Given the description of an element on the screen output the (x, y) to click on. 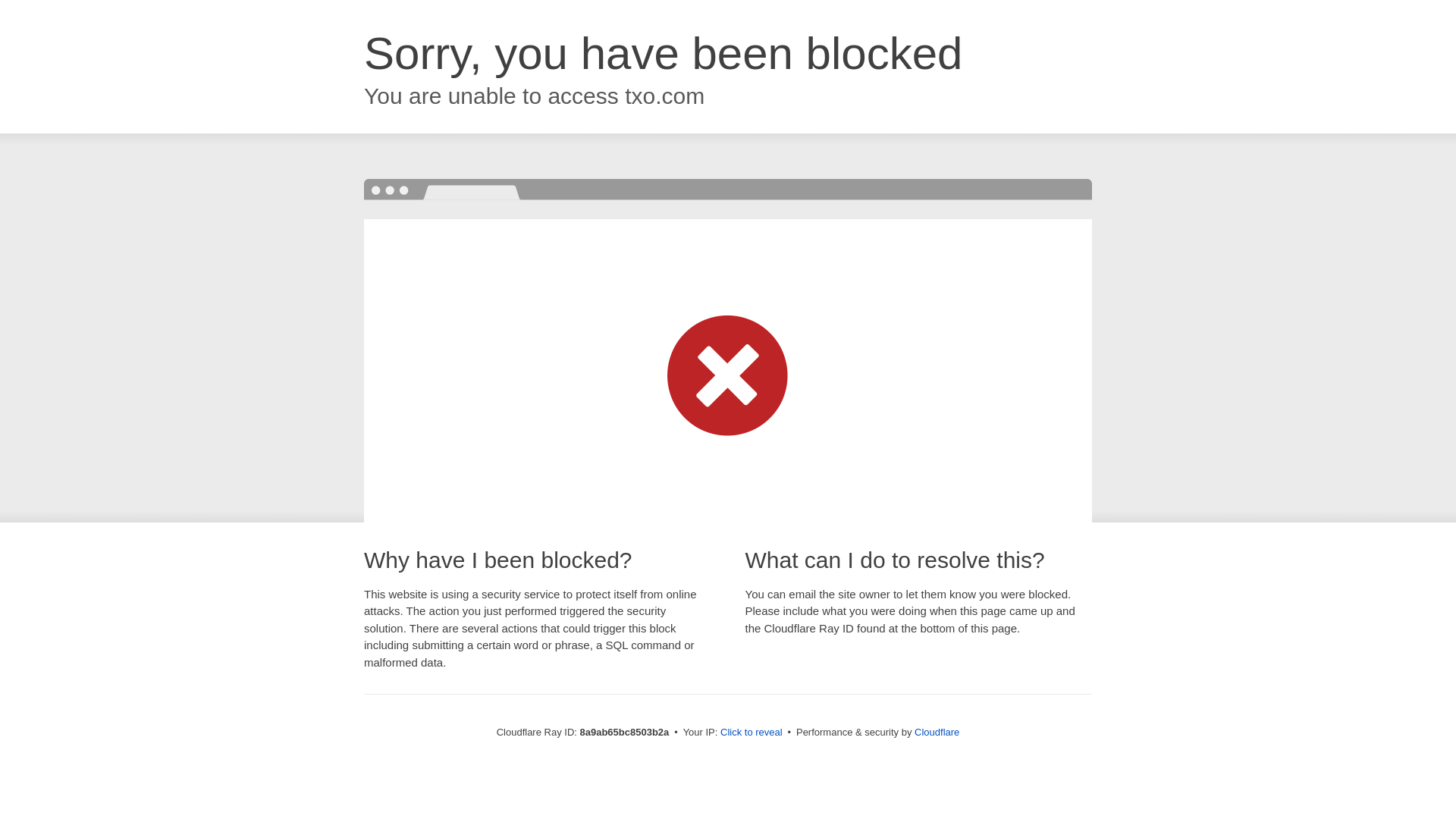
Cloudflare (936, 731)
Click to reveal (751, 732)
